Given the description of an element on the screen output the (x, y) to click on. 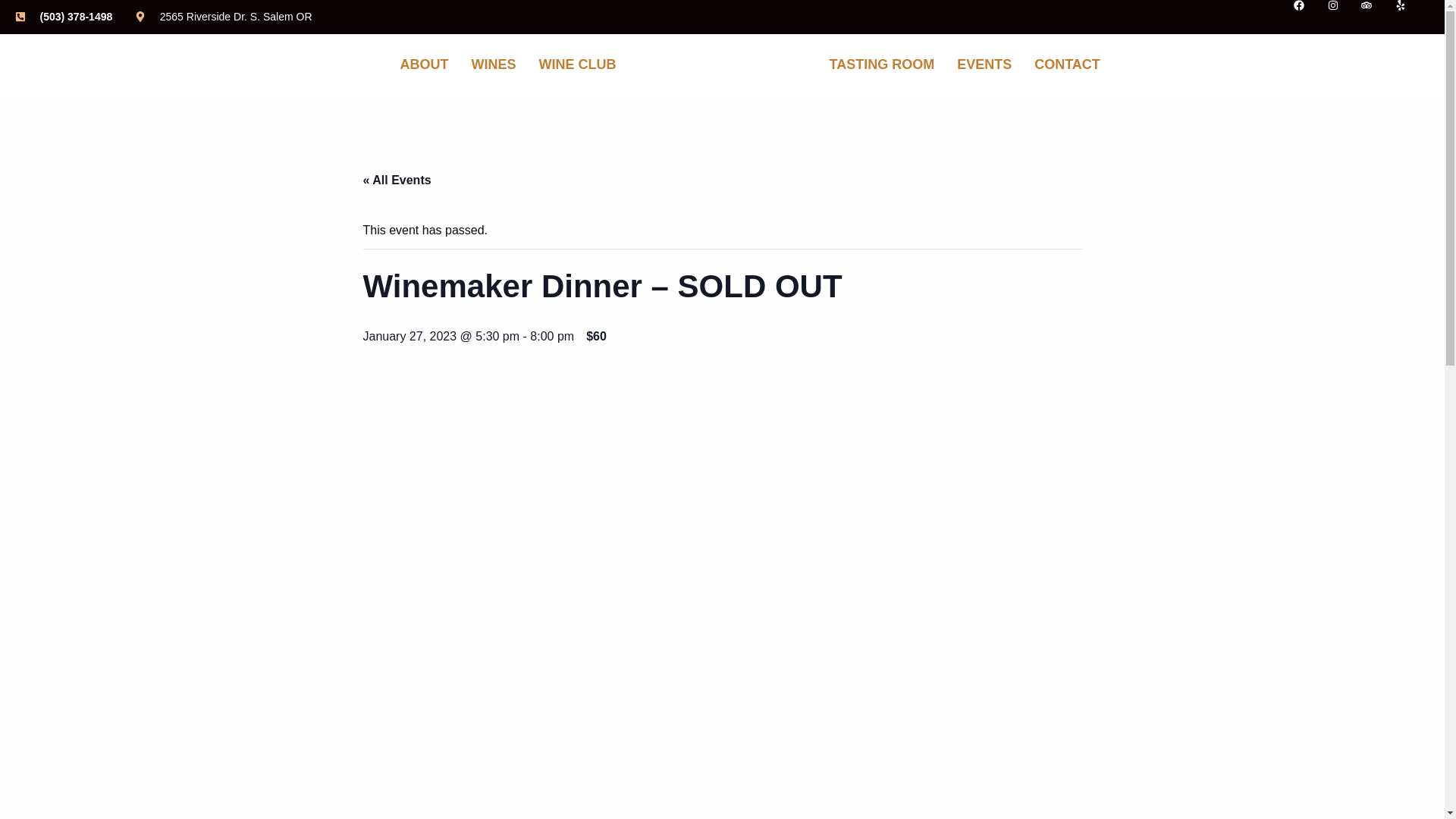
CONTACT (1066, 64)
TASTING ROOM (881, 64)
WINE CLUB (576, 64)
WINES (492, 64)
EVENTS (983, 64)
ABOUT (423, 64)
2565 Riverside Dr. S. Salem OR (223, 16)
